Given the description of an element on the screen output the (x, y) to click on. 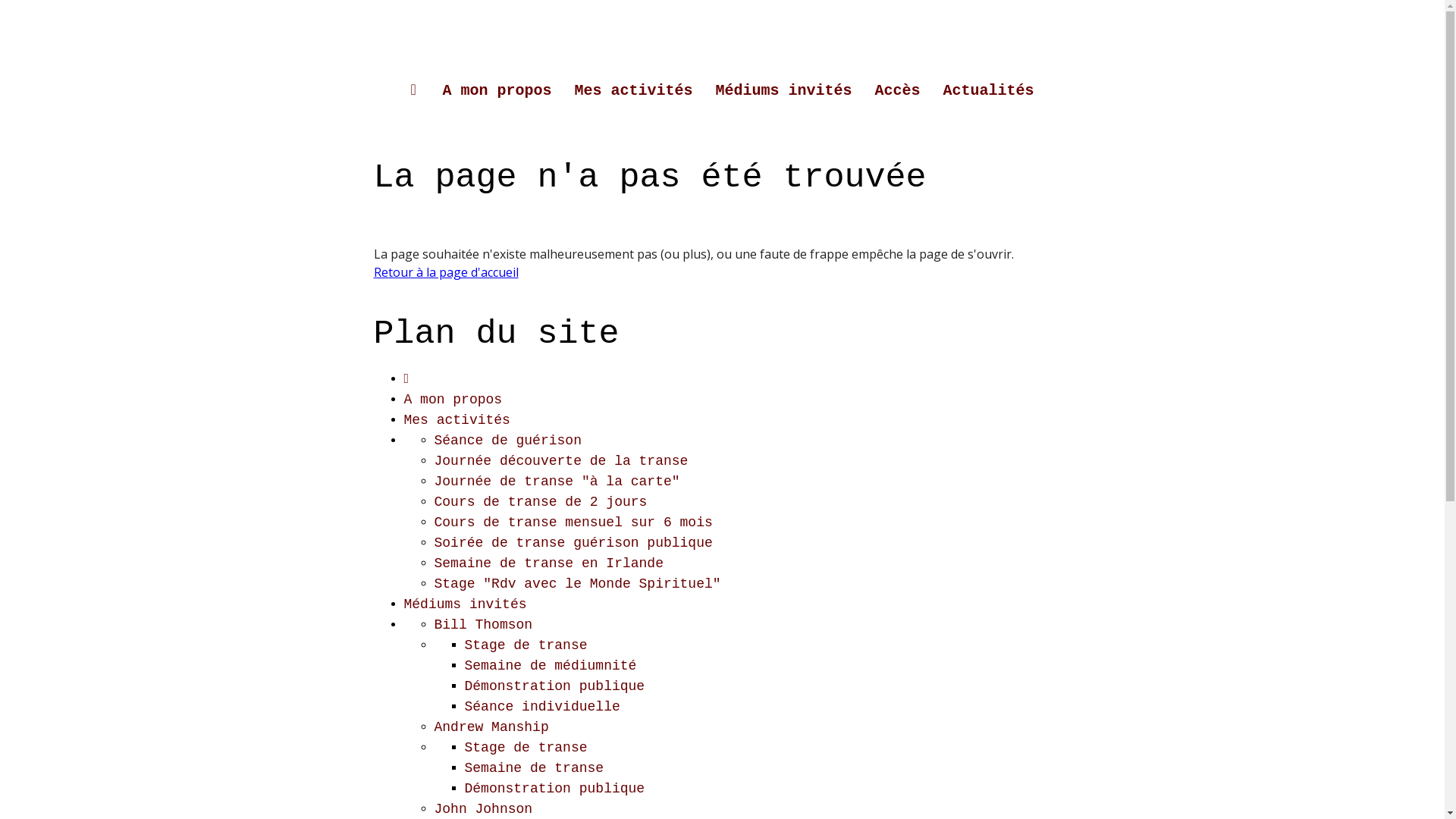
Cours de transe de 2 jours Element type: text (539, 501)
Stage de transe Element type: text (525, 747)
Cours de transe mensuel sur 6 mois Element type: text (572, 522)
A mon propos Element type: text (496, 90)
Bill Thomson Element type: text (482, 624)
Semaine de transe en Irlande Element type: text (547, 563)
Stage de transe Element type: text (525, 644)
Andrew Manship Element type: text (490, 726)
Stage "Rdv avec le Monde Spirituel" Element type: text (576, 583)
Semaine de transe Element type: text (533, 767)
A mon propos Element type: text (452, 399)
John Johnson Element type: text (482, 808)
